Given the description of an element on the screen output the (x, y) to click on. 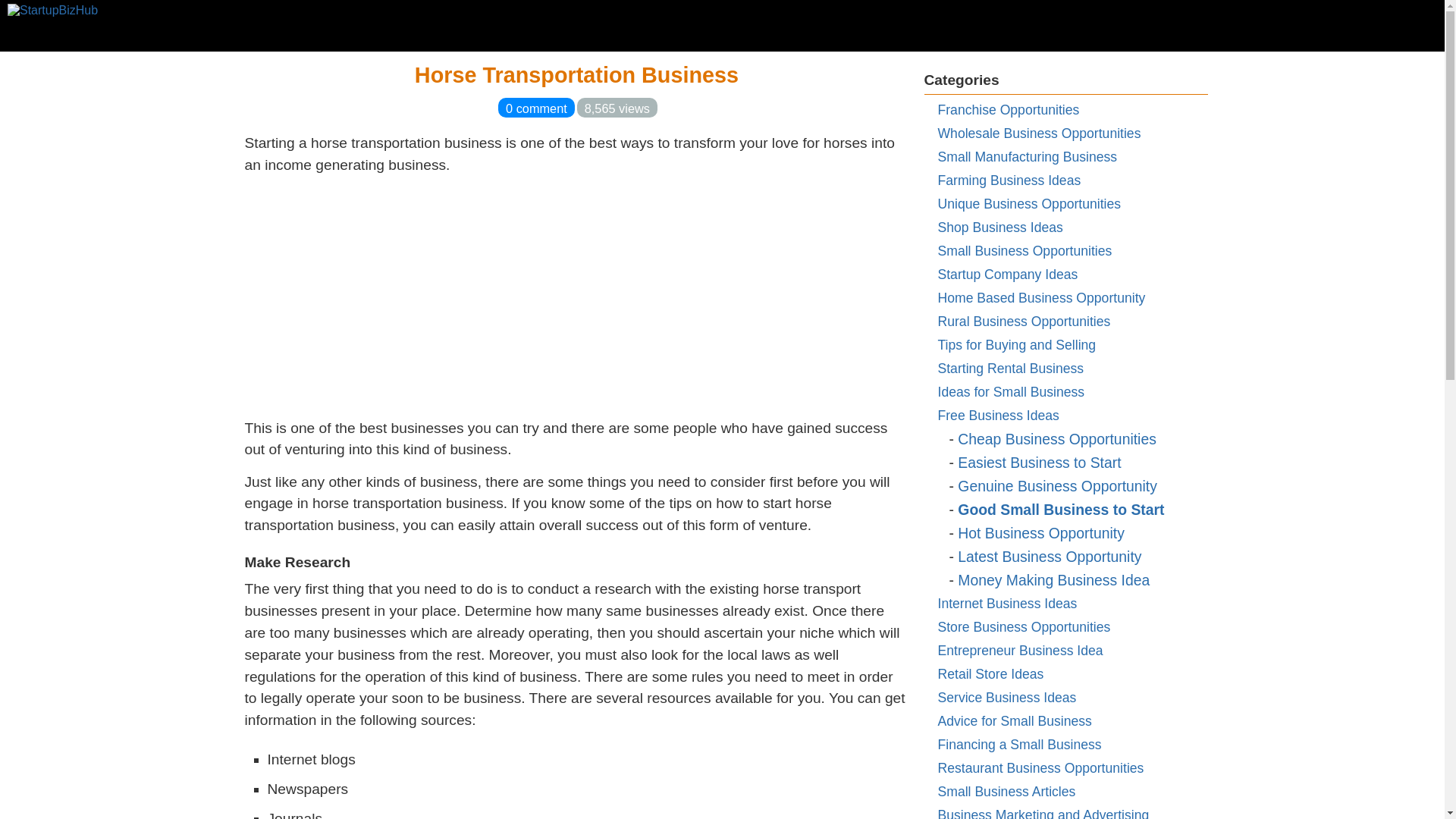
Free Business Ideas (997, 415)
Cheap Business Opportunities (1057, 438)
0 comment (536, 108)
Easiest Business to Start (1039, 462)
Ideas for Small Business (1010, 391)
Unique Business Opportunities (1029, 203)
Startup Company Ideas (1007, 273)
Starting Rental Business (1010, 368)
Shop Business Ideas (999, 227)
Good Small Business to Start (1060, 509)
